Given the description of an element on the screen output the (x, y) to click on. 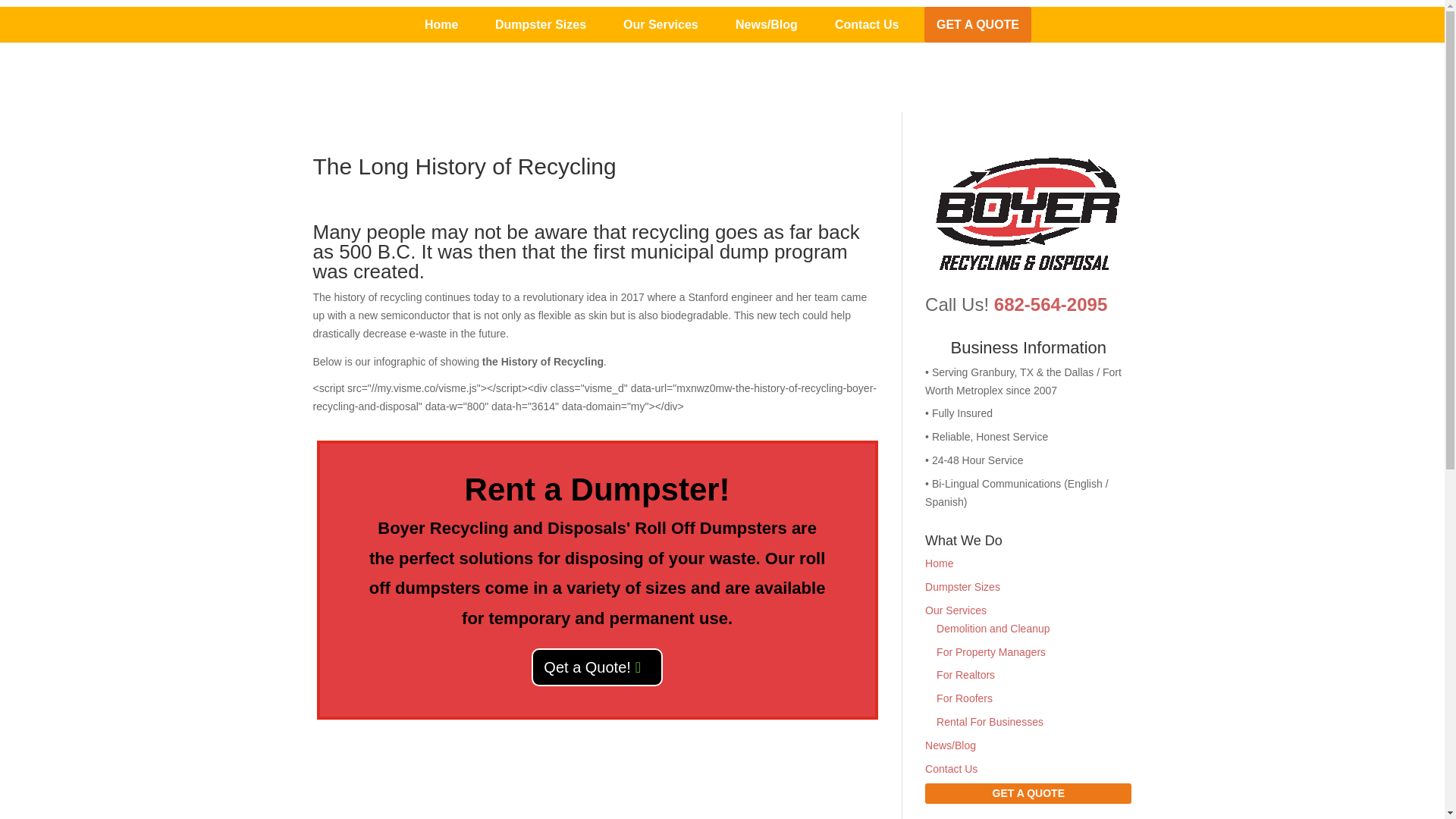
Qet a Quote! (596, 667)
Our Services (955, 610)
Dumpster Sizes (539, 24)
Home (938, 563)
Contact Us (950, 768)
682-564-2095 (1050, 304)
Home (440, 24)
Our Services (660, 24)
Demolition and Cleanup (992, 628)
GET A QUOTE (1028, 793)
For Property Managers (990, 652)
For Roofers (964, 698)
Contact Us (867, 24)
For Realtors (965, 674)
Dumpster Sizes (962, 586)
